Given the description of an element on the screen output the (x, y) to click on. 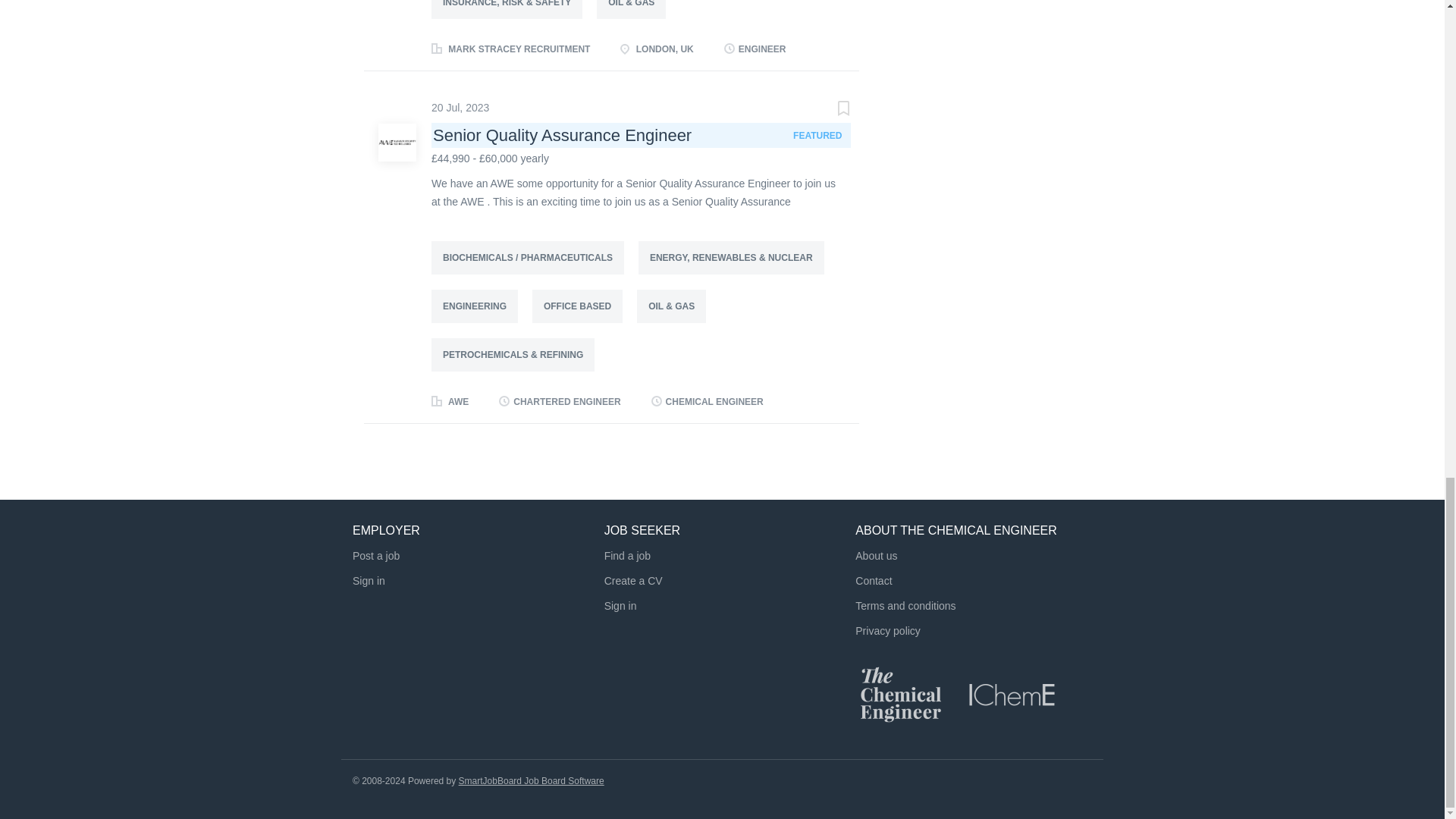
Save (828, 110)
The Chemical Engineer (901, 693)
Job Board Software, Script (531, 780)
The Institution of Chemical Engineers (1012, 693)
